Given the description of an element on the screen output the (x, y) to click on. 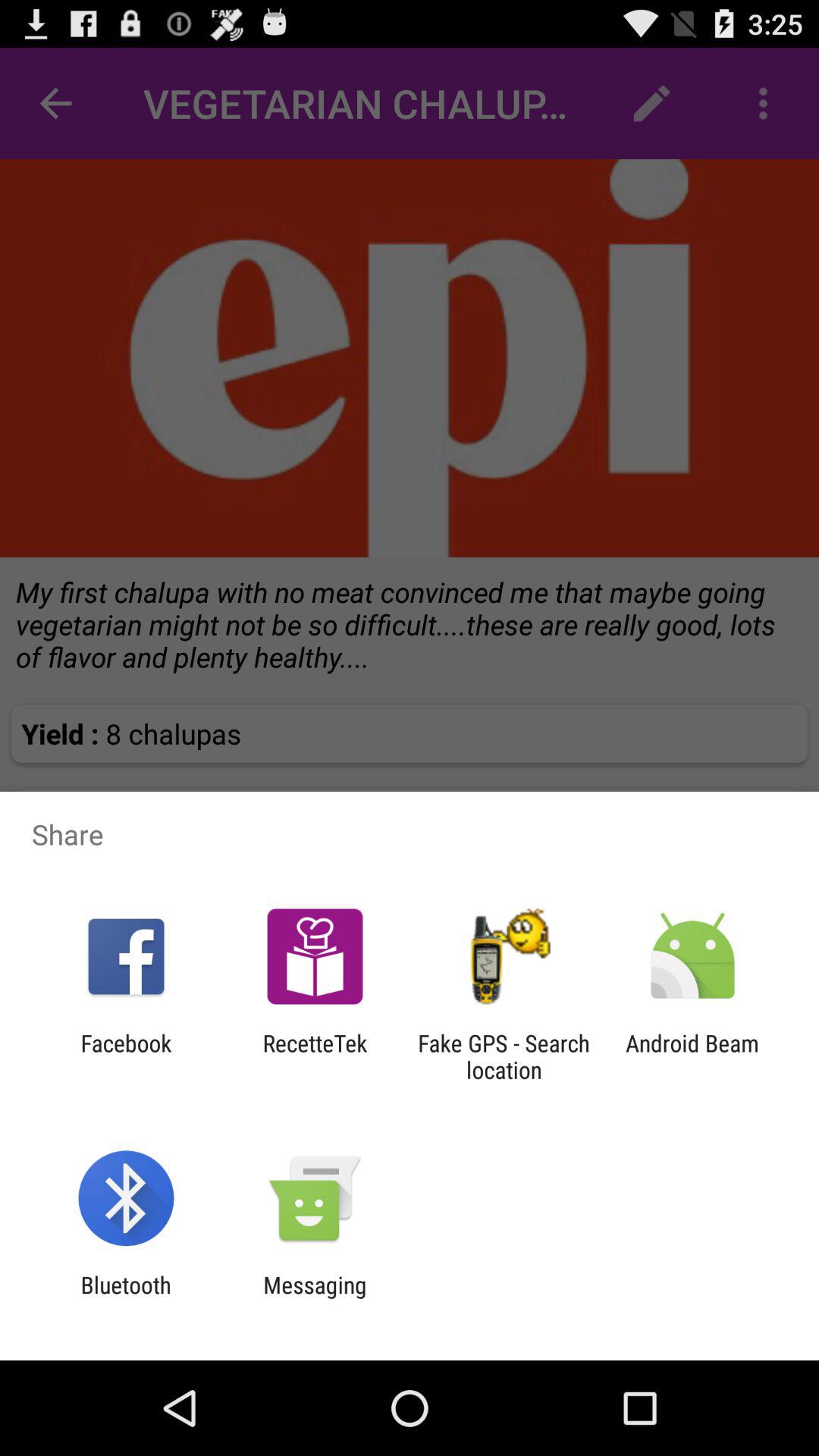
turn off icon next to the recettetek (125, 1056)
